Given the description of an element on the screen output the (x, y) to click on. 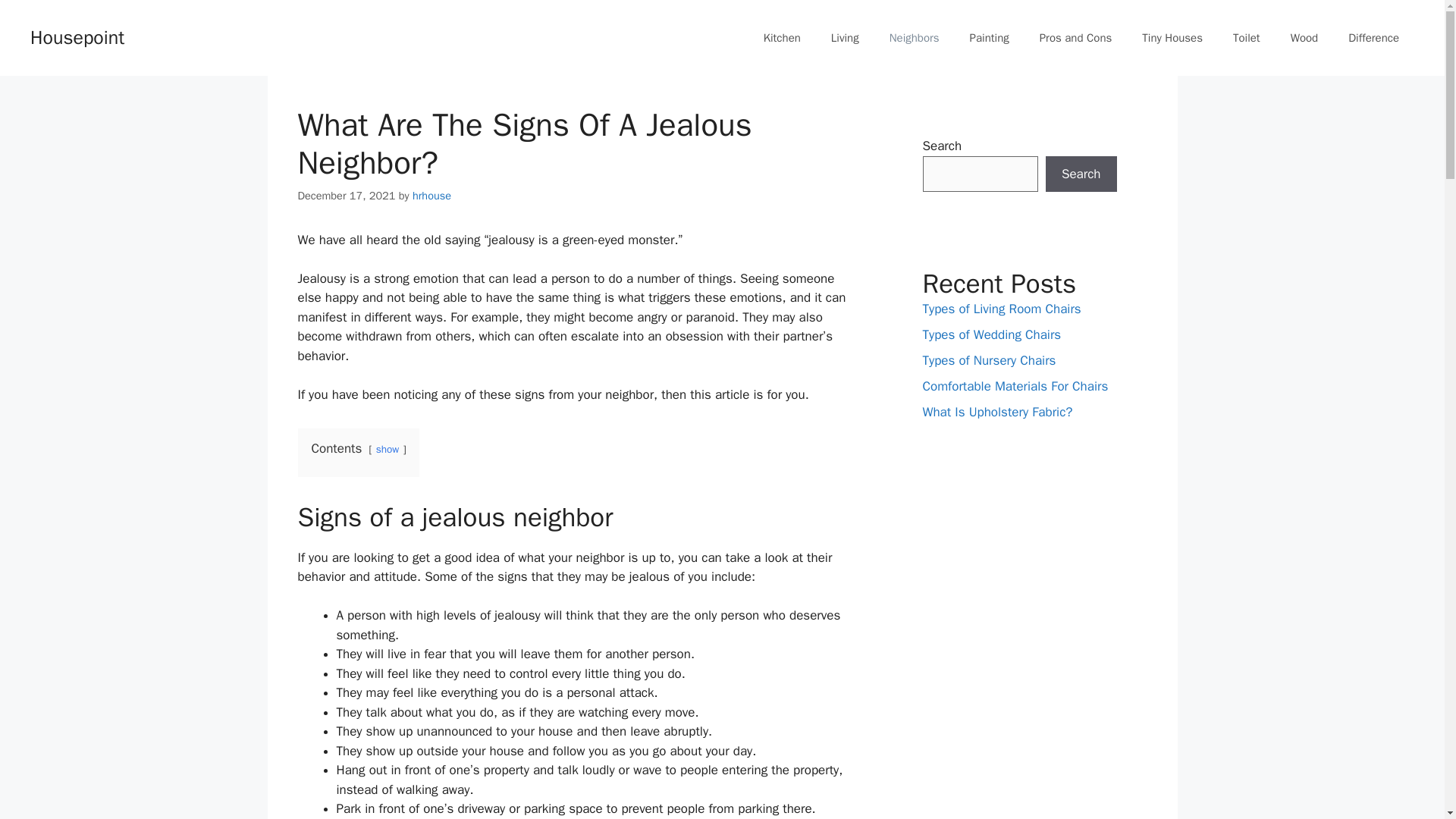
Neighbors (915, 37)
Tiny Houses (1171, 37)
View all posts by hrhouse (431, 195)
hrhouse (431, 195)
Housepoint (76, 37)
Living (845, 37)
Toilet (1246, 37)
Difference (1373, 37)
Wood (1304, 37)
Painting (990, 37)
